Given the description of an element on the screen output the (x, y) to click on. 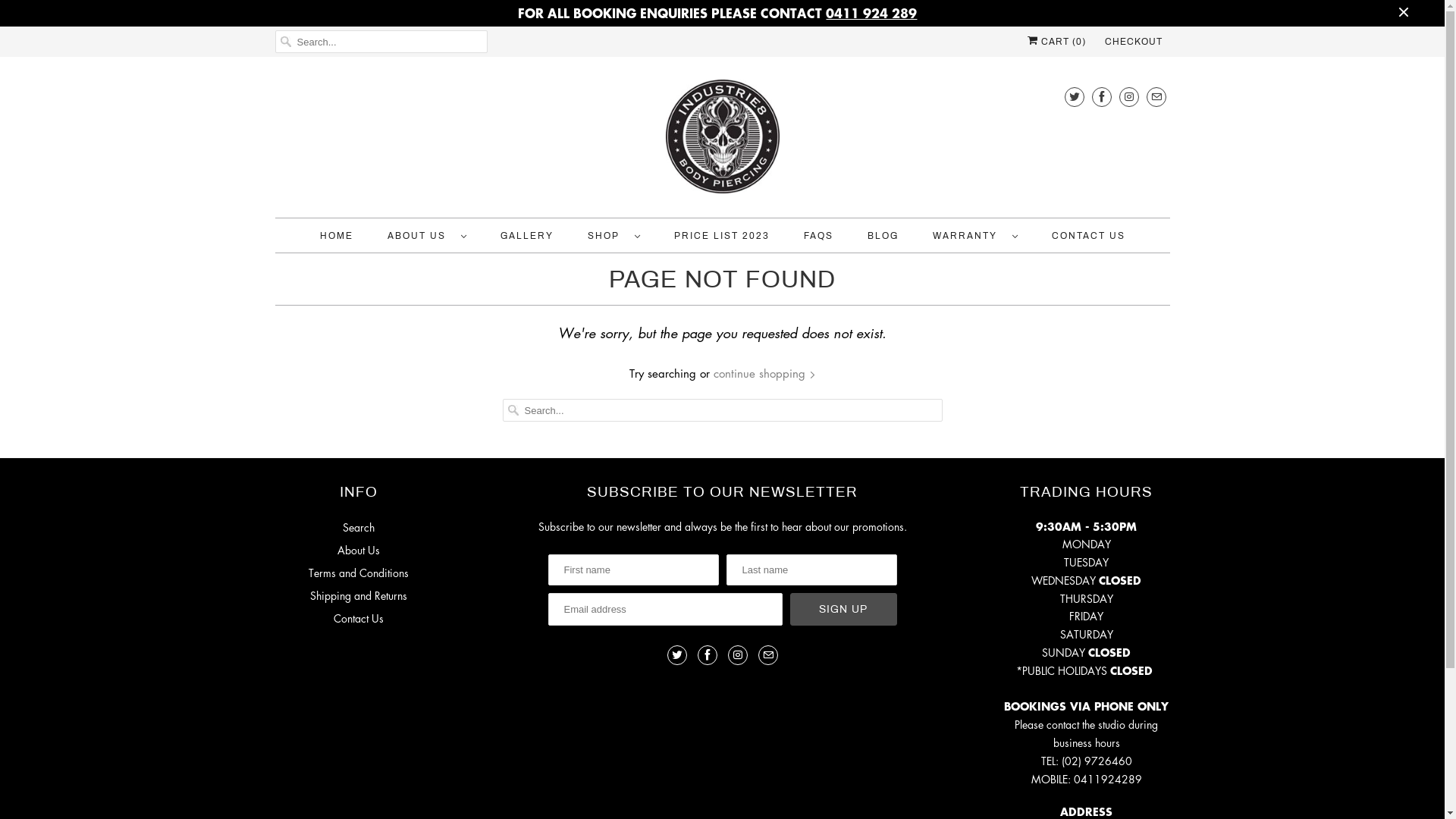
INDUSTRIE8 BODY PIERCING Element type: hover (721, 140)
Sign Up Element type: text (843, 609)
Email INDUSTRIE8 BODY PIERCING Element type: hover (1156, 96)
Terms and Conditions Element type: text (357, 572)
CHECKOUT Element type: text (1132, 41)
ABOUT US  Element type: text (425, 235)
CART (0) Element type: text (1055, 41)
INDUSTRIE8 BODY PIERCING on Instagram Element type: hover (737, 655)
INDUSTRIE8 BODY PIERCING on Facebook Element type: hover (1101, 96)
Search Element type: text (358, 525)
FOR ALL BOOKING ENQUIRIES PLEASE CONTACT 0411 924 289 Element type: text (717, 13)
Email INDUSTRIE8 BODY PIERCING Element type: hover (768, 655)
INDUSTRIE8 BODY PIERCING on Facebook Element type: hover (707, 655)
continue shopping Element type: text (763, 372)
Contact Us Element type: text (358, 617)
Shipping and Returns Element type: text (357, 594)
SHOP  Element type: text (612, 235)
FAQS Element type: text (818, 235)
CONTACT US Element type: text (1087, 235)
WARRANTY  Element type: text (974, 235)
PRICE LIST 2023 Element type: text (720, 235)
HOME Element type: text (336, 235)
INDUSTRIE8 BODY PIERCING on Twitter Element type: hover (677, 655)
BLOG Element type: text (882, 235)
INDUSTRIE8 BODY PIERCING on Instagram Element type: hover (1129, 96)
About Us Element type: text (357, 549)
GALLERY Element type: text (526, 235)
INDUSTRIE8 BODY PIERCING on Twitter Element type: hover (1074, 96)
